Given the description of an element on the screen output the (x, y) to click on. 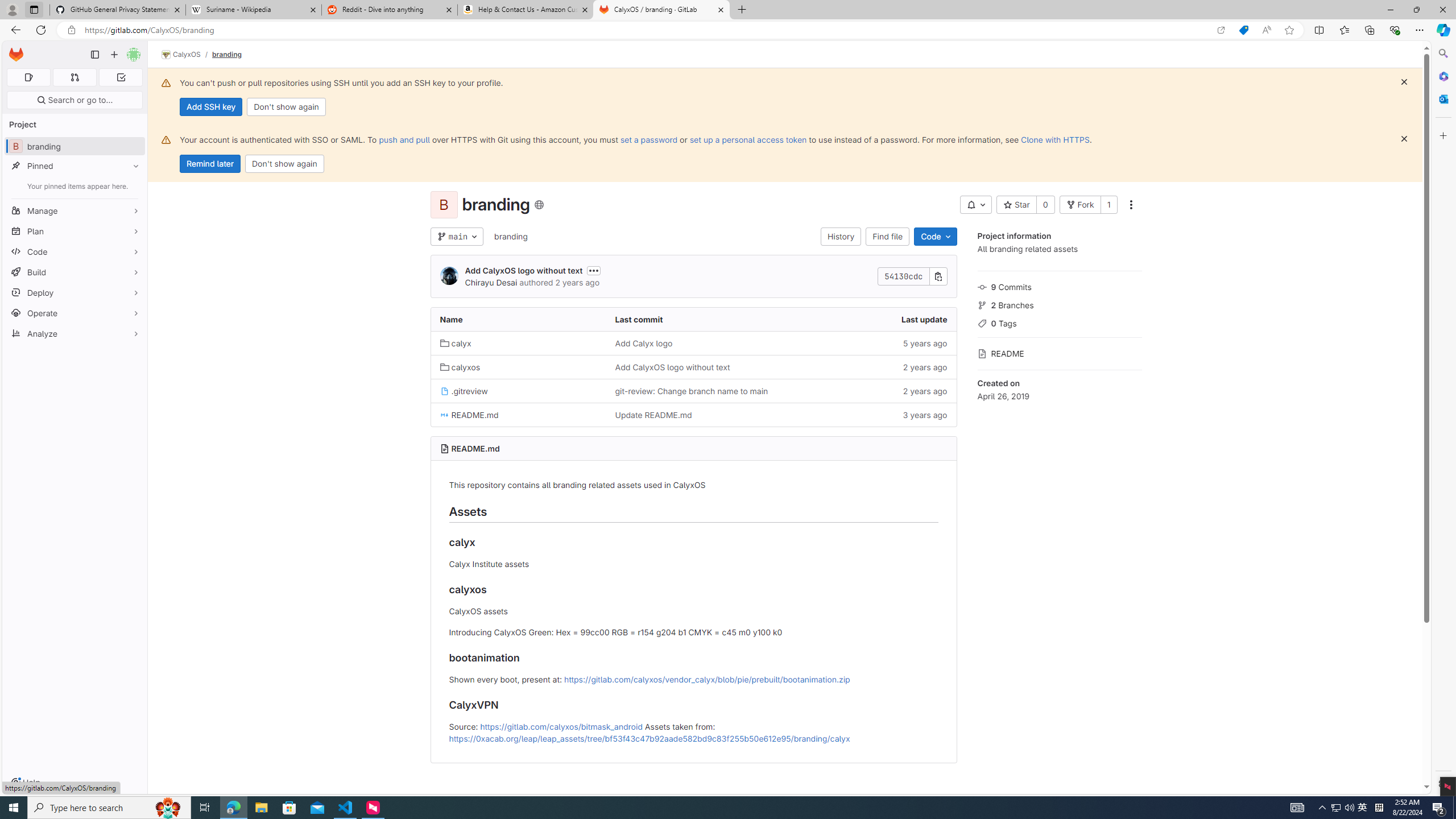
9 Commits (1058, 286)
Update README.md (693, 414)
Primary navigation sidebar (94, 54)
Add Calyx logo (693, 342)
Build (74, 271)
Code (935, 236)
Code (74, 251)
branding (510, 236)
Copy commit SHA (937, 275)
